Given the description of an element on the screen output the (x, y) to click on. 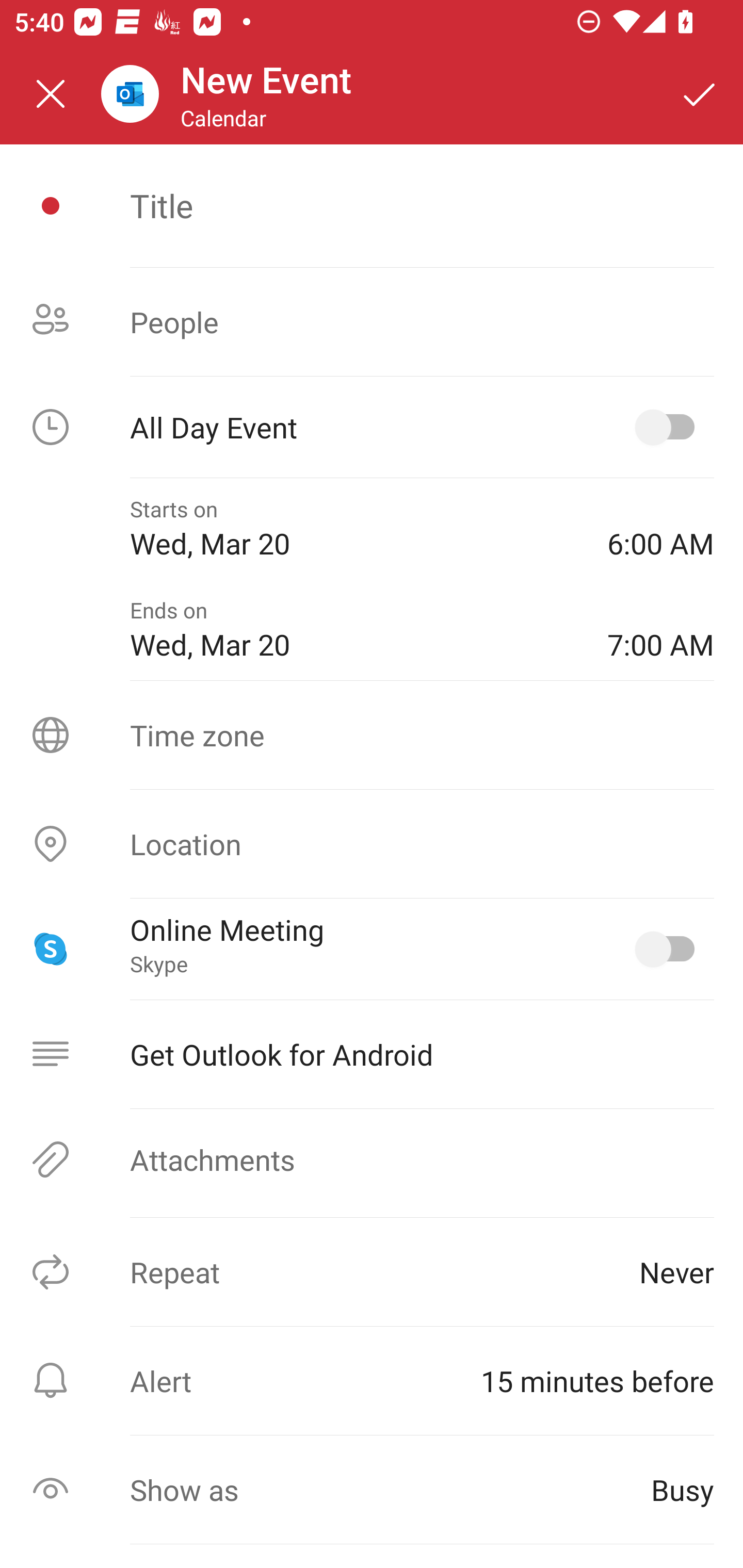
Close (50, 93)
Save (699, 93)
Title (422, 205)
Event icon picker (50, 206)
People (371, 322)
All Day Event (371, 427)
Starts on Wed, Mar 20 (353, 528)
6:00 AM (660, 528)
Ends on Wed, Mar 20 (353, 629)
7:00 AM (660, 629)
Time zone (371, 734)
Location (371, 844)
Online Meeting, Skype selected (669, 949)
Attachments (371, 1159)
Repeat Never (371, 1272)
Alert ⁨15 minutes before (371, 1380)
Show as Busy (371, 1489)
